Given the description of an element on the screen output the (x, y) to click on. 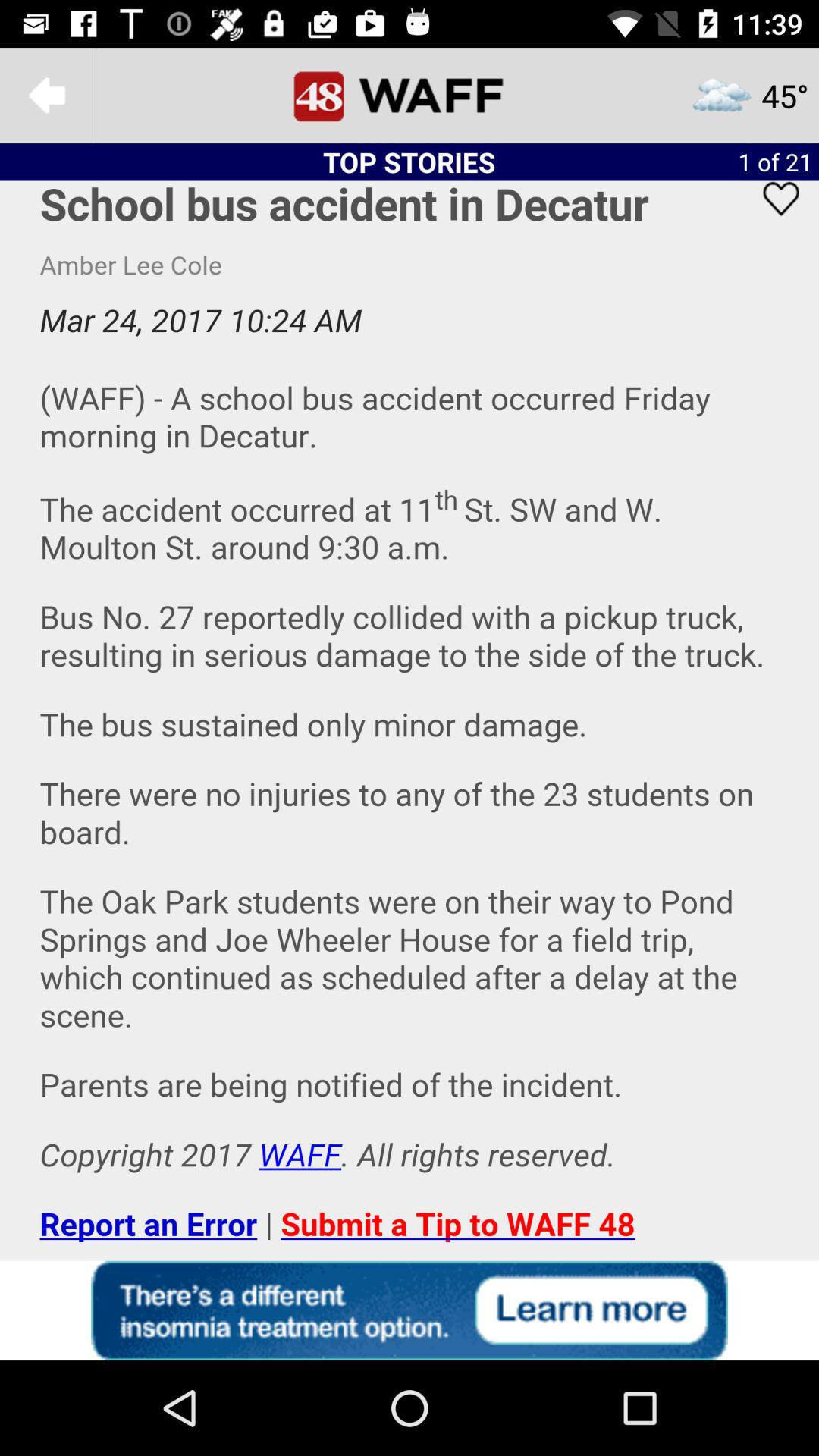
go to this site (409, 1310)
